Given the description of an element on the screen output the (x, y) to click on. 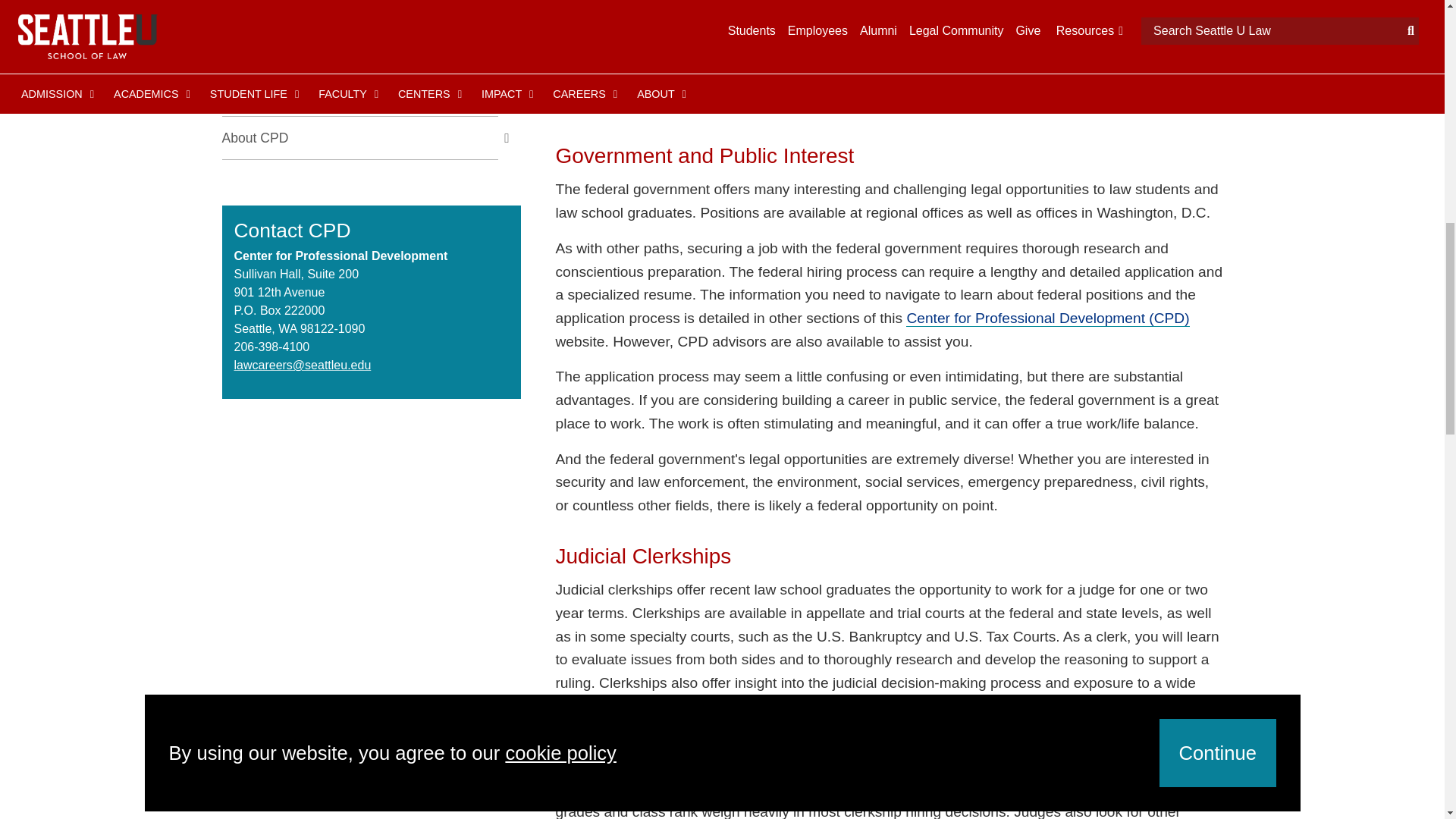
lawpracticetoday.org (761, 81)
Email the Center for Professional Development (301, 364)
nationaljurist.com (770, 57)
nationaljurist.com (708, 9)
nationaljurist.com (751, 33)
finance.yahoo.com (815, 105)
